Given the description of an element on the screen output the (x, y) to click on. 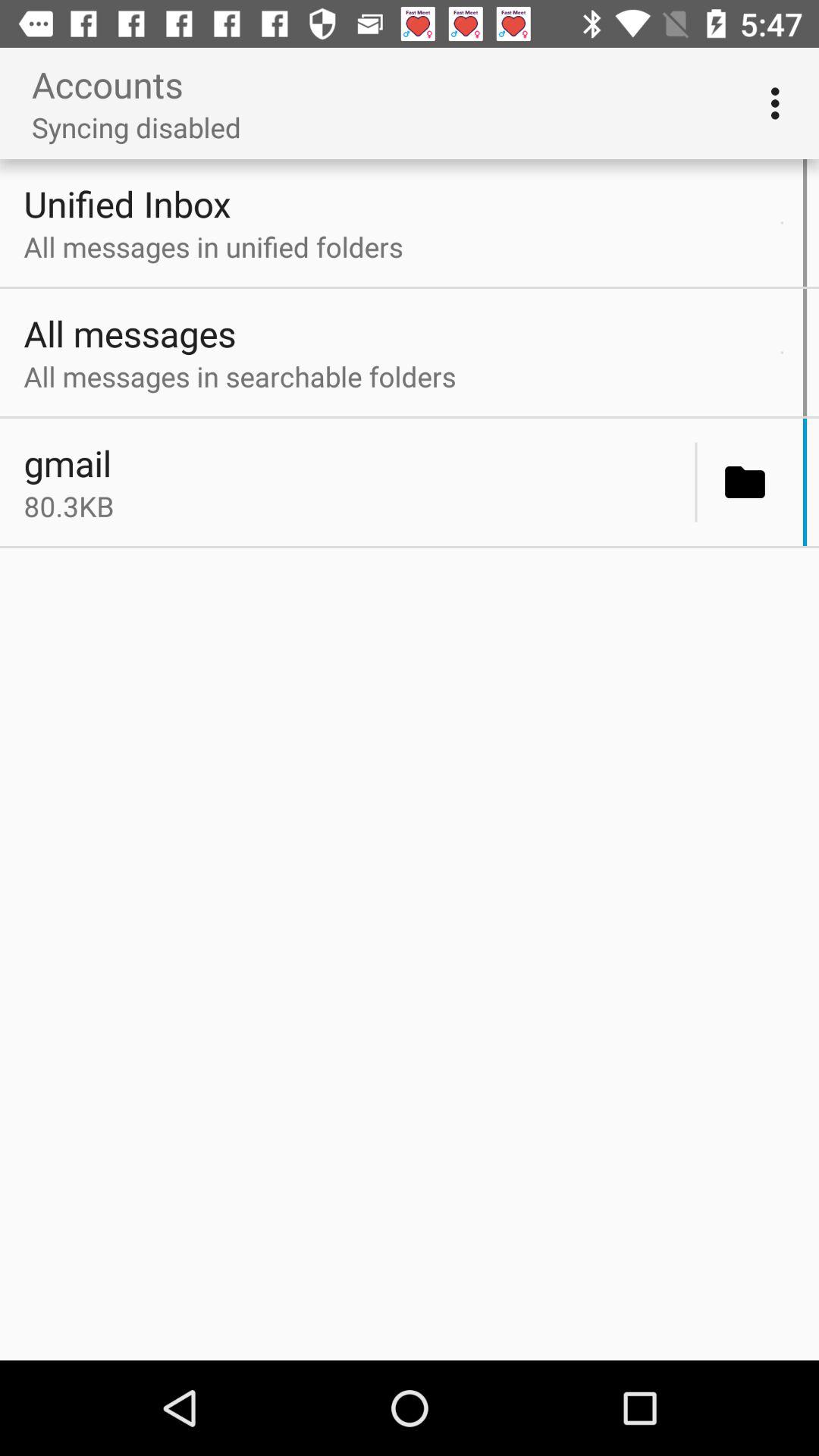
select the item above the all messages in item (781, 352)
